Given the description of an element on the screen output the (x, y) to click on. 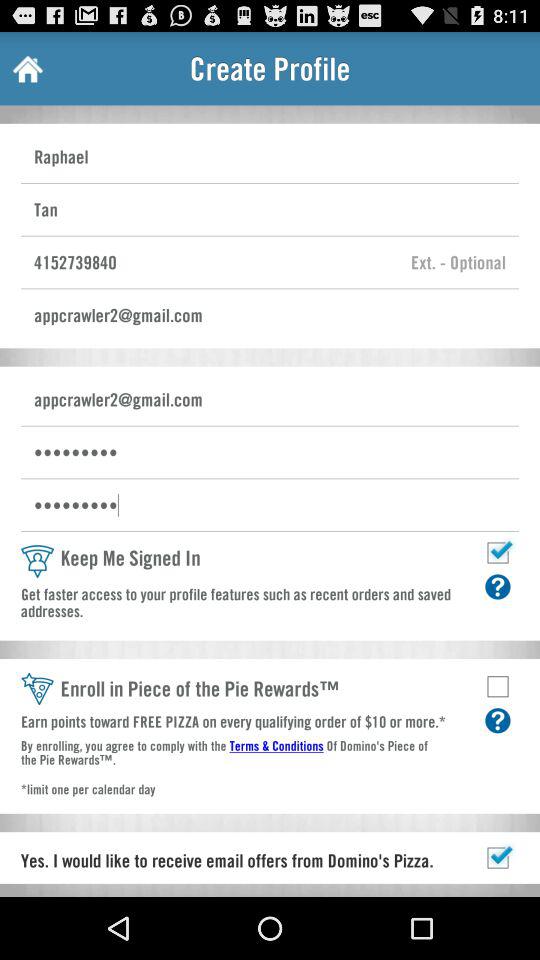
toggle to stay signed in (498, 552)
